Given the description of an element on the screen output the (x, y) to click on. 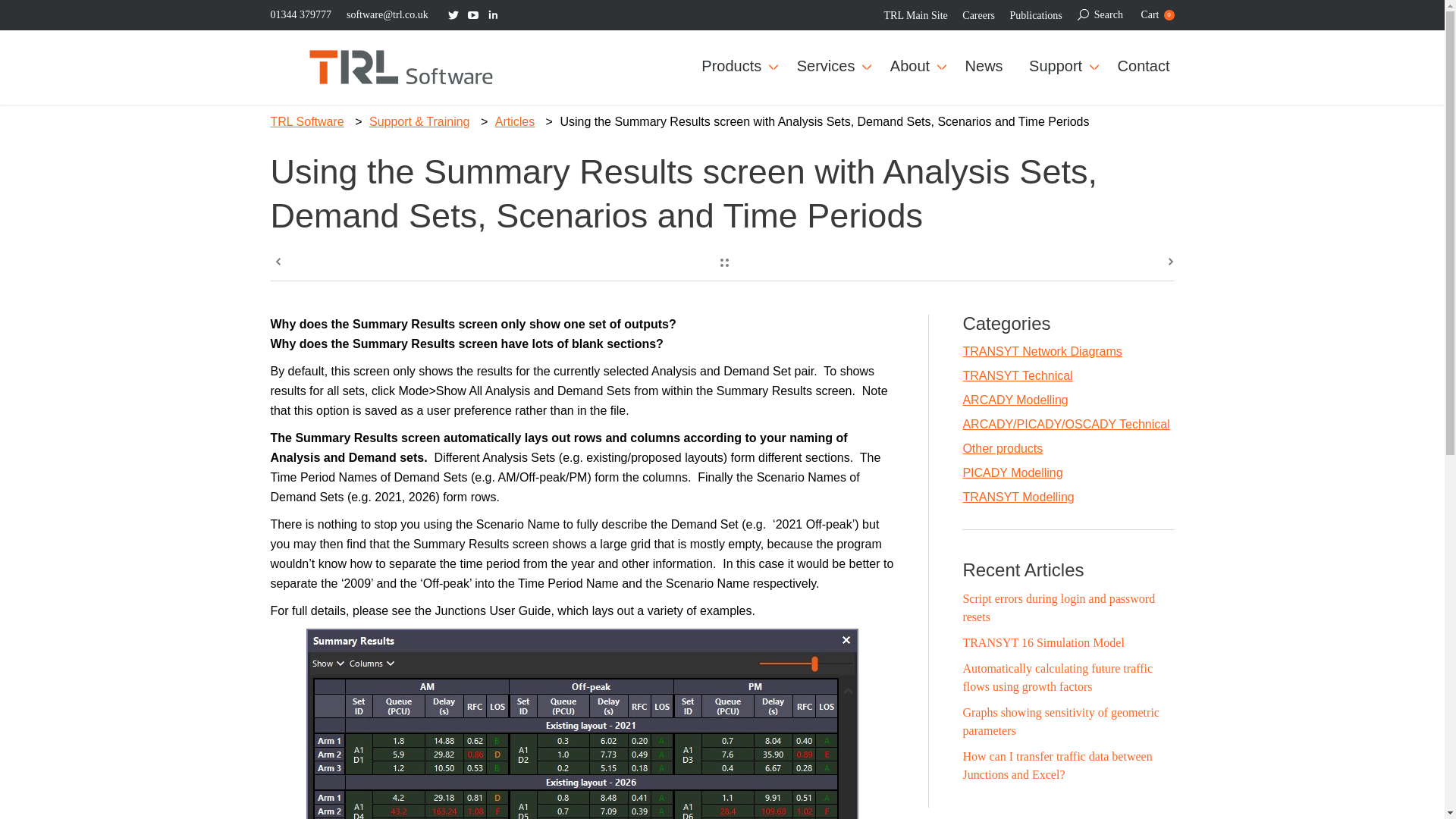
Publications (1036, 15)
01344 379777 (300, 14)
Twitter (453, 14)
TRL Main Site (915, 15)
Search (1099, 14)
Go! (18, 14)
Careers (978, 15)
Linkedin (492, 14)
YouTube (1156, 14)
